Given the description of an element on the screen output the (x, y) to click on. 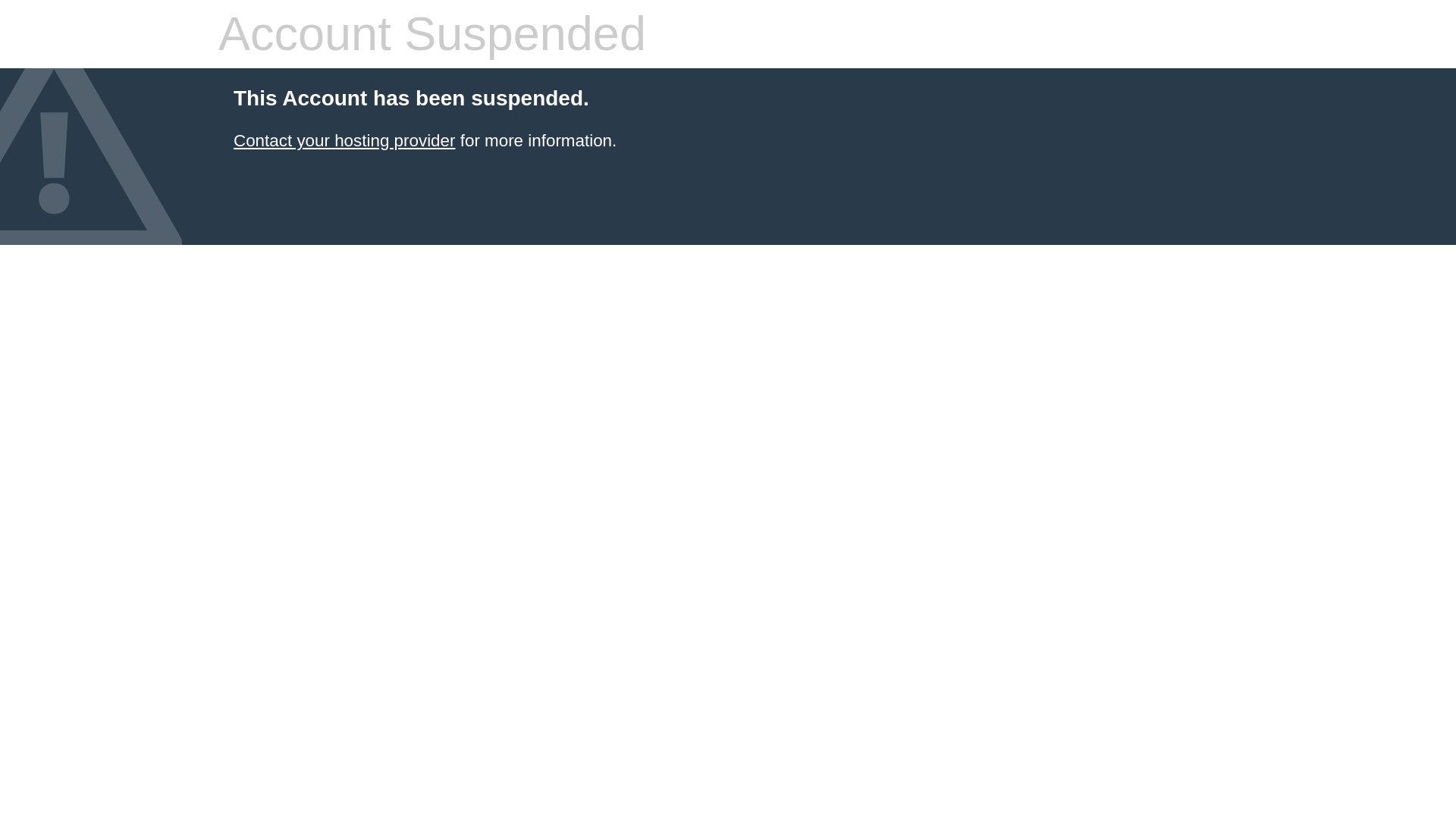
Bibihost (343, 140)
Contact your hosting provider (343, 140)
